Given the description of an element on the screen output the (x, y) to click on. 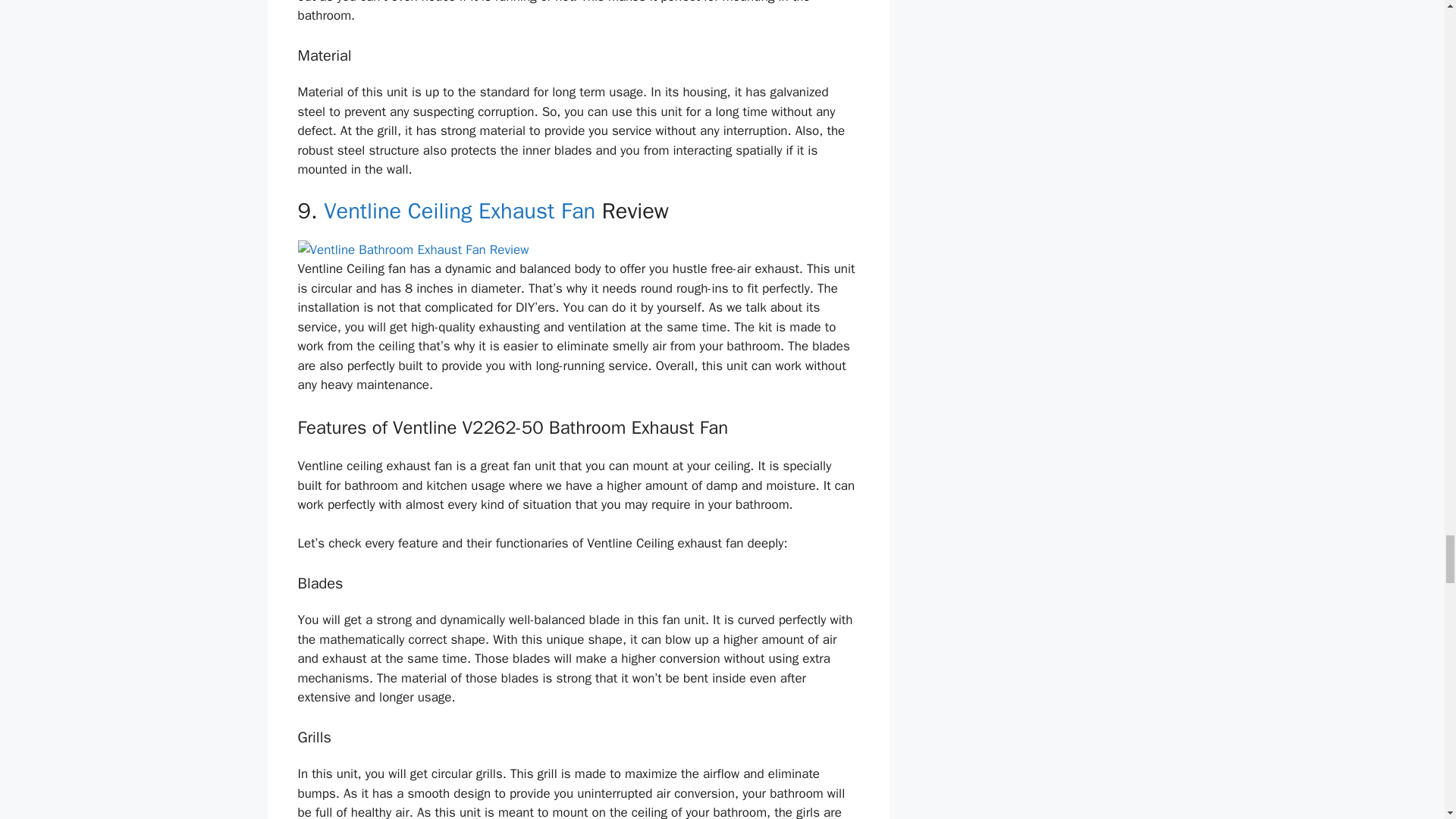
Ventline Ceiling Exhaust Fan (459, 211)
